Given the description of an element on the screen output the (x, y) to click on. 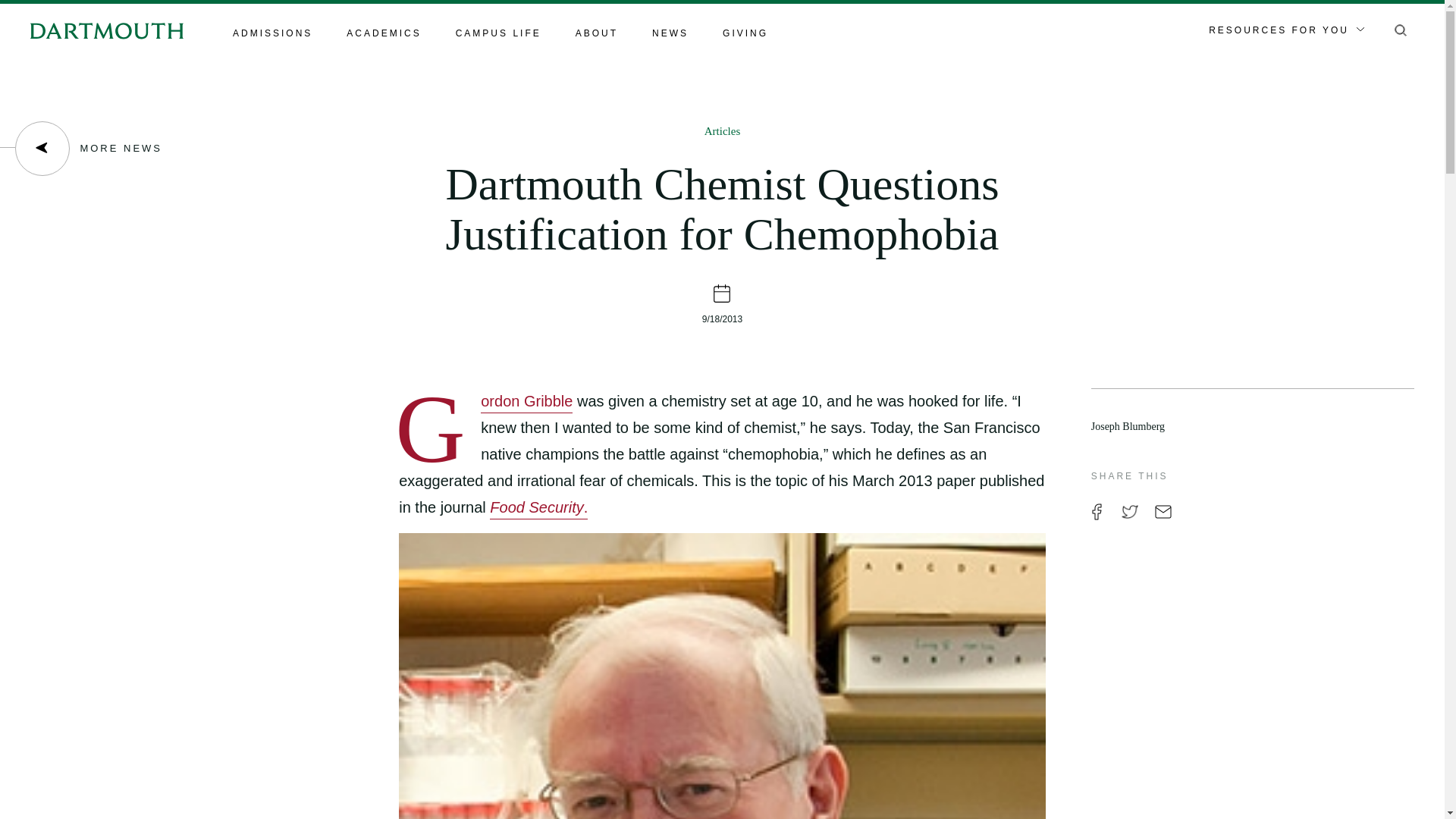
Campus Life (498, 33)
ACADEMICS (383, 33)
Home (106, 29)
Home (106, 29)
ABOUT (596, 33)
ADMISSIONS (272, 33)
Admissions (272, 33)
Academics (383, 33)
CAMPUS LIFE (498, 33)
